Given the description of an element on the screen output the (x, y) to click on. 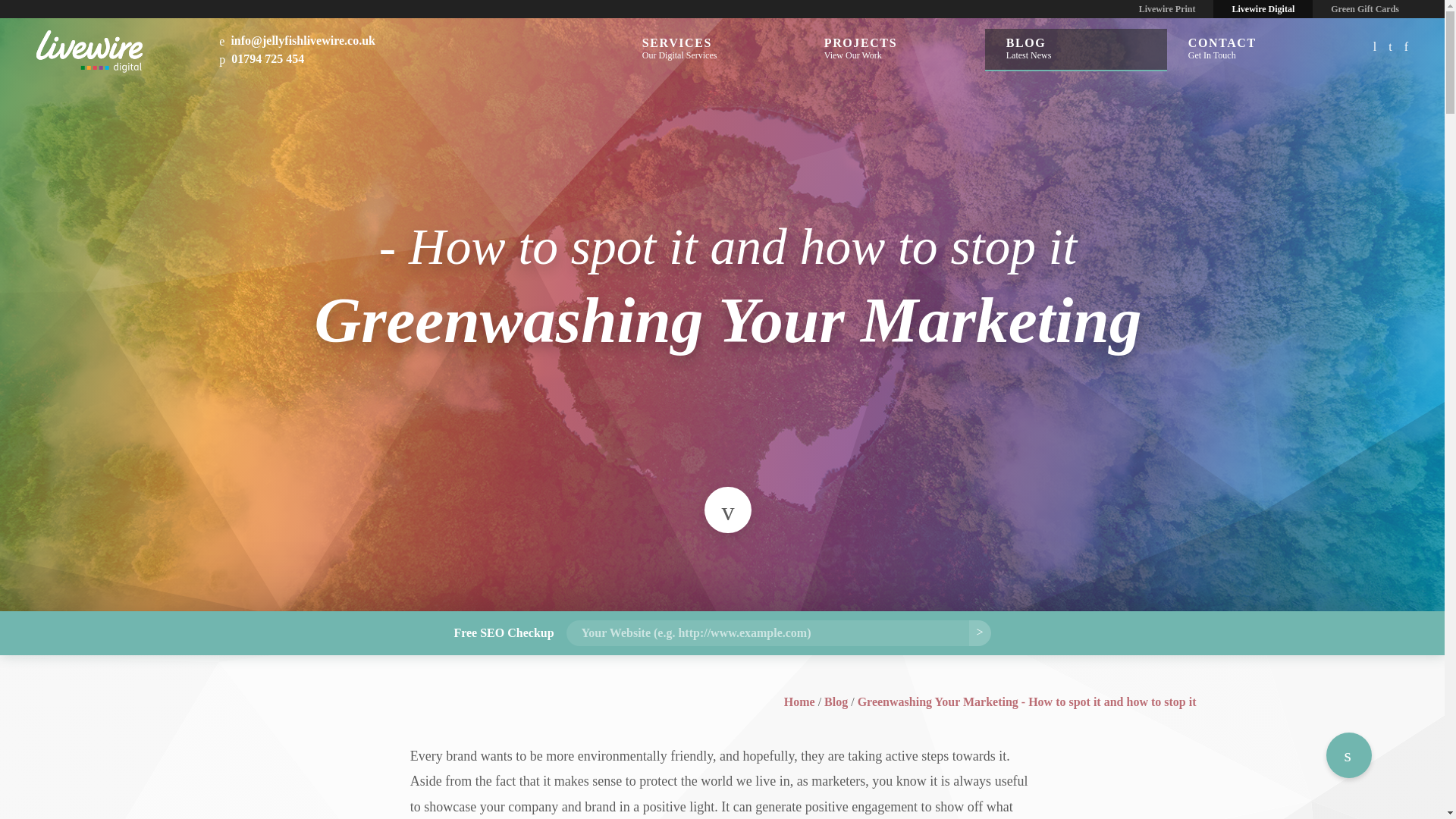
Green Gift Cards (1076, 44)
Livewire Print (1364, 9)
Livewire Digital (1167, 9)
01794 725 454 (712, 44)
Home (1262, 9)
Blog (261, 58)
